Given the description of an element on the screen output the (x, y) to click on. 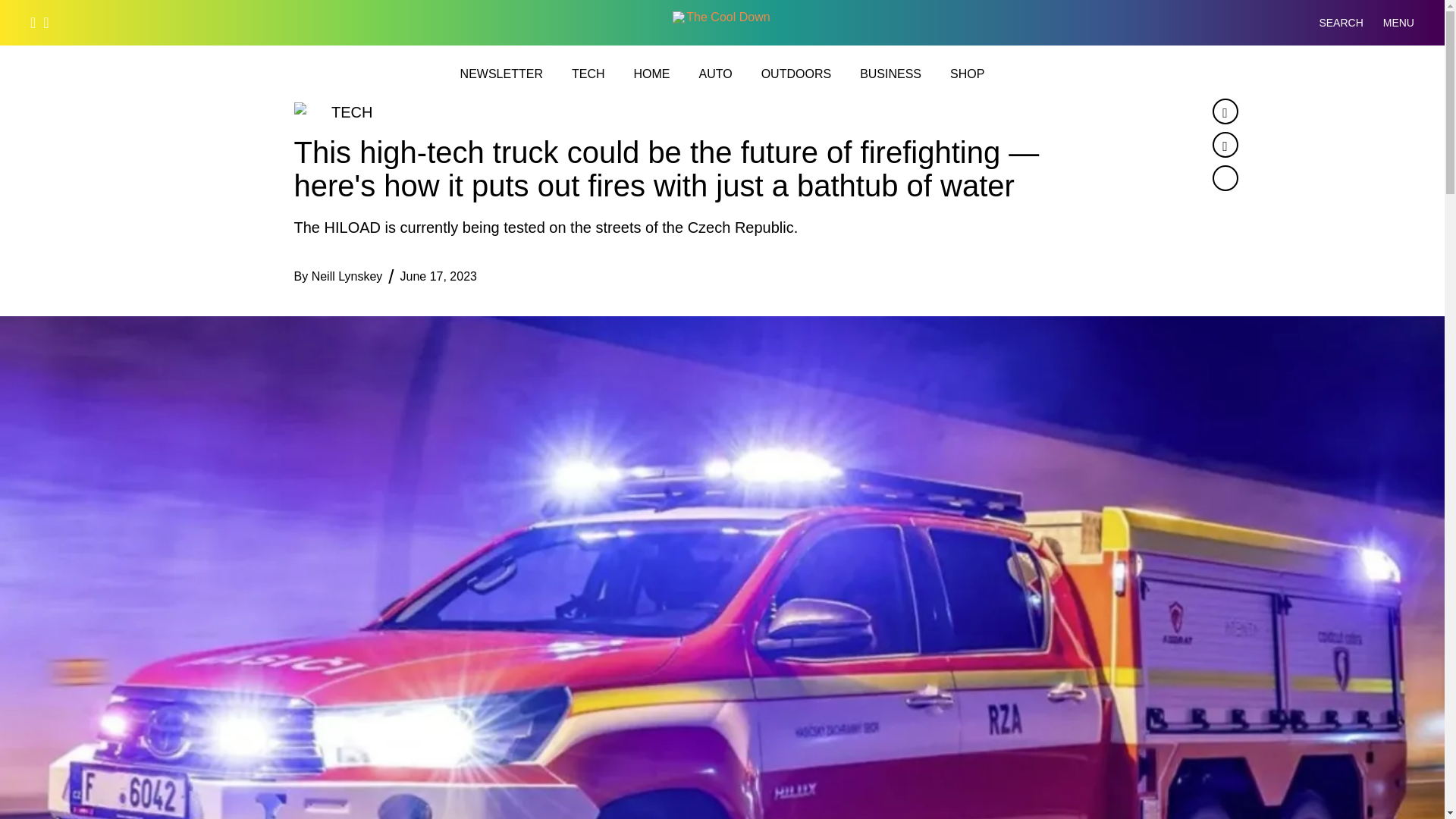
OUTDOORS (796, 73)
TECH (588, 73)
MENU (1398, 22)
AUTO (715, 73)
HOME (651, 73)
SHOP (967, 73)
BUSINESS (890, 73)
NEWSLETTER (501, 73)
Facebook (1224, 111)
Twitter (1224, 144)
SEARCH (1328, 22)
